Given the description of an element on the screen output the (x, y) to click on. 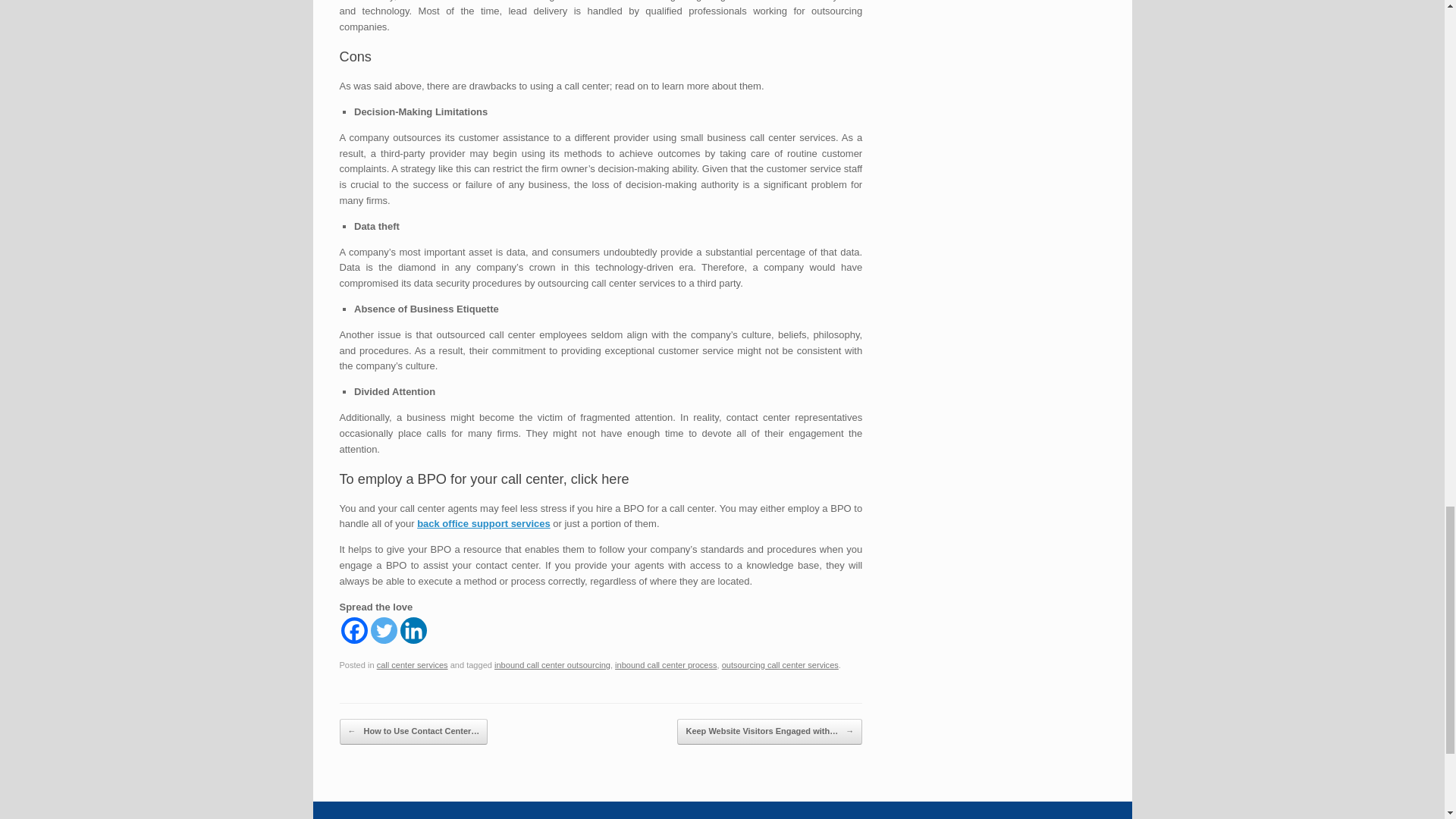
Facebook (354, 630)
Linkedin (413, 630)
Twitter (382, 630)
